Given the description of an element on the screen output the (x, y) to click on. 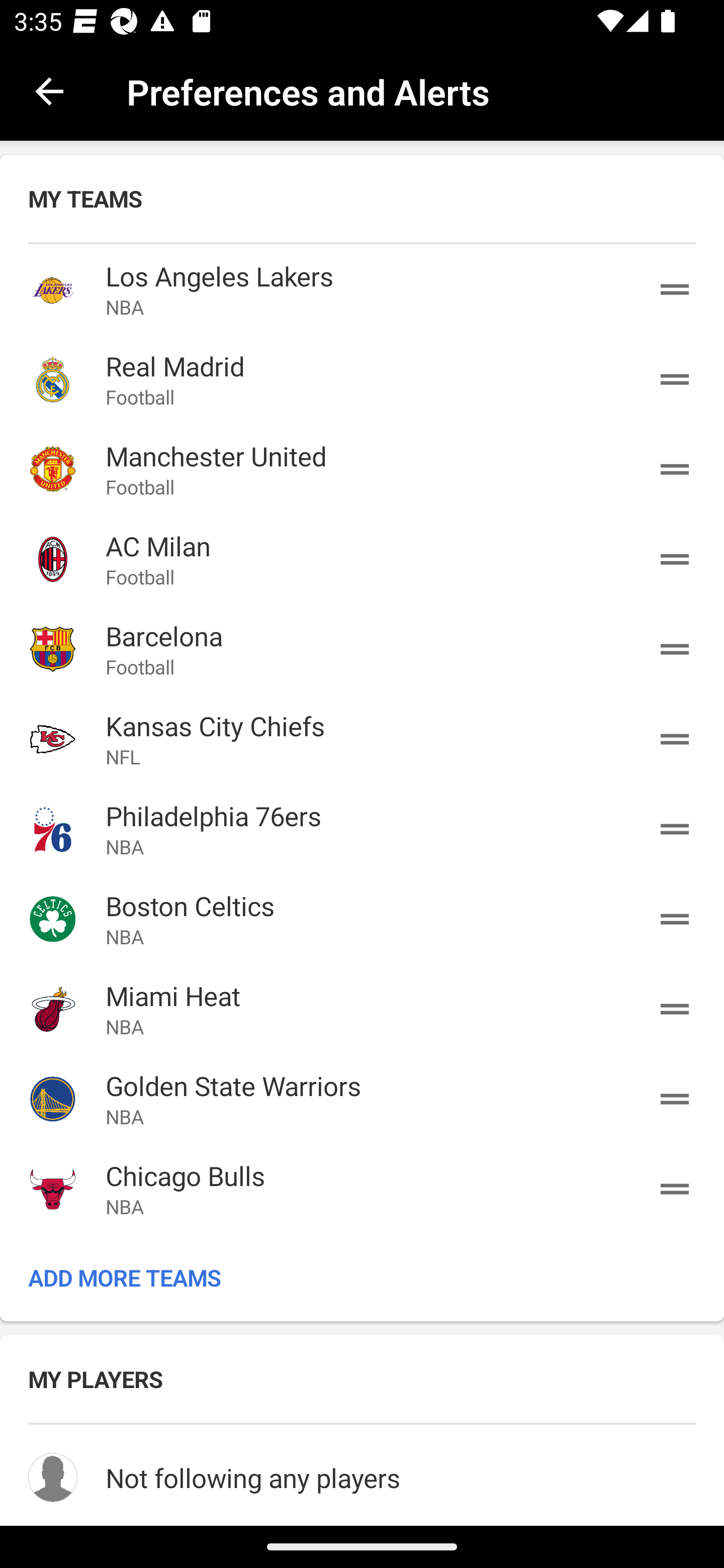
back.button (49, 90)
AC Milan AC Milan AC Milan Football Football (362, 558)
Barcelona Barcelona Barcelona Football Football (362, 648)
Miami Heat Miami Heat Miami Heat NBA NBA (362, 1008)
Chicago Bulls Chicago Bulls Chicago Bulls NBA NBA (362, 1188)
ADD MORE TEAMS (362, 1277)
